Given the description of an element on the screen output the (x, y) to click on. 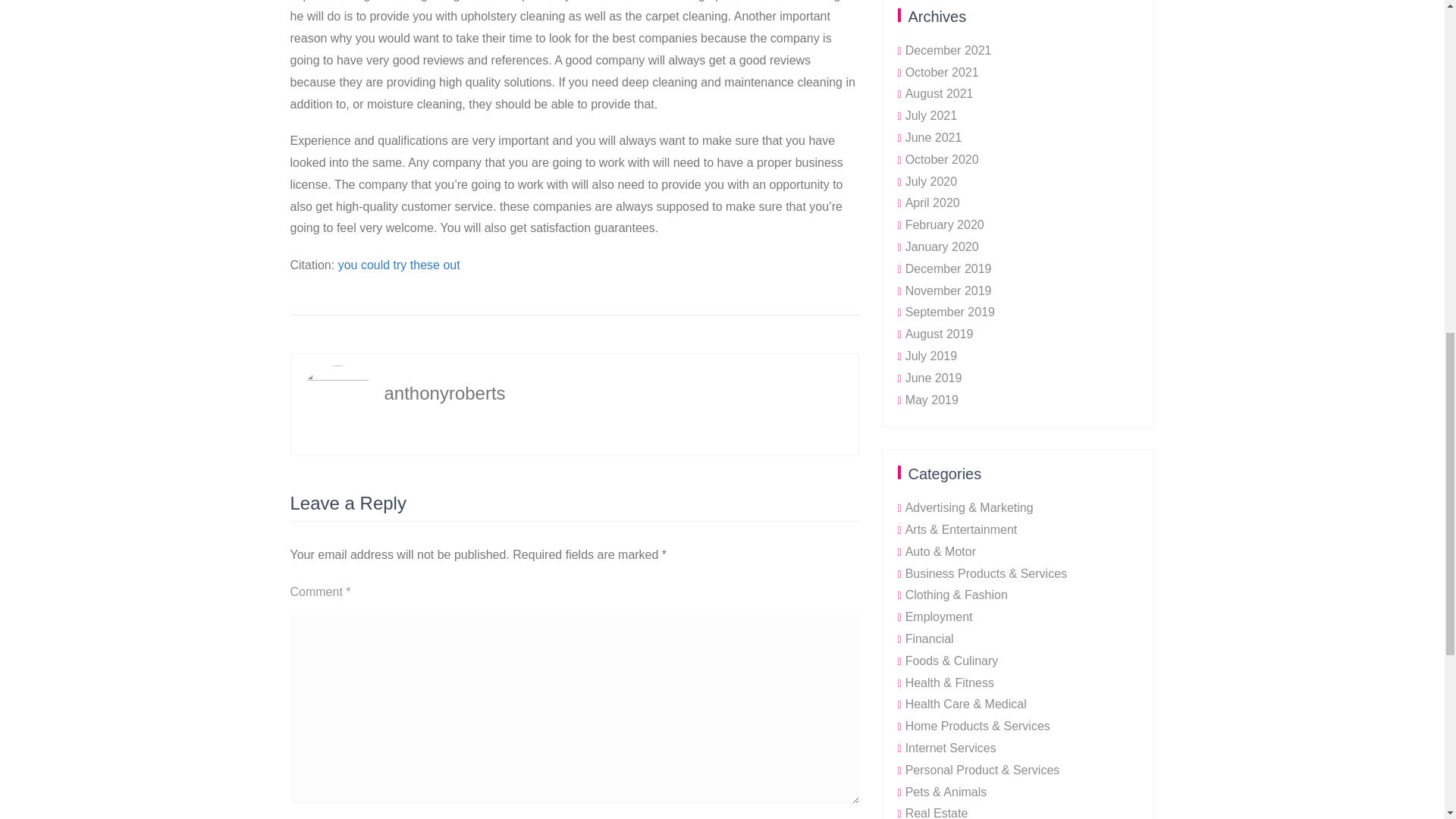
you could try these out (398, 265)
July 2021 (931, 115)
October 2021 (941, 72)
July 2020 (931, 181)
June 2021 (933, 137)
October 2020 (941, 159)
December 2021 (948, 50)
August 2021 (939, 92)
